Given the description of an element on the screen output the (x, y) to click on. 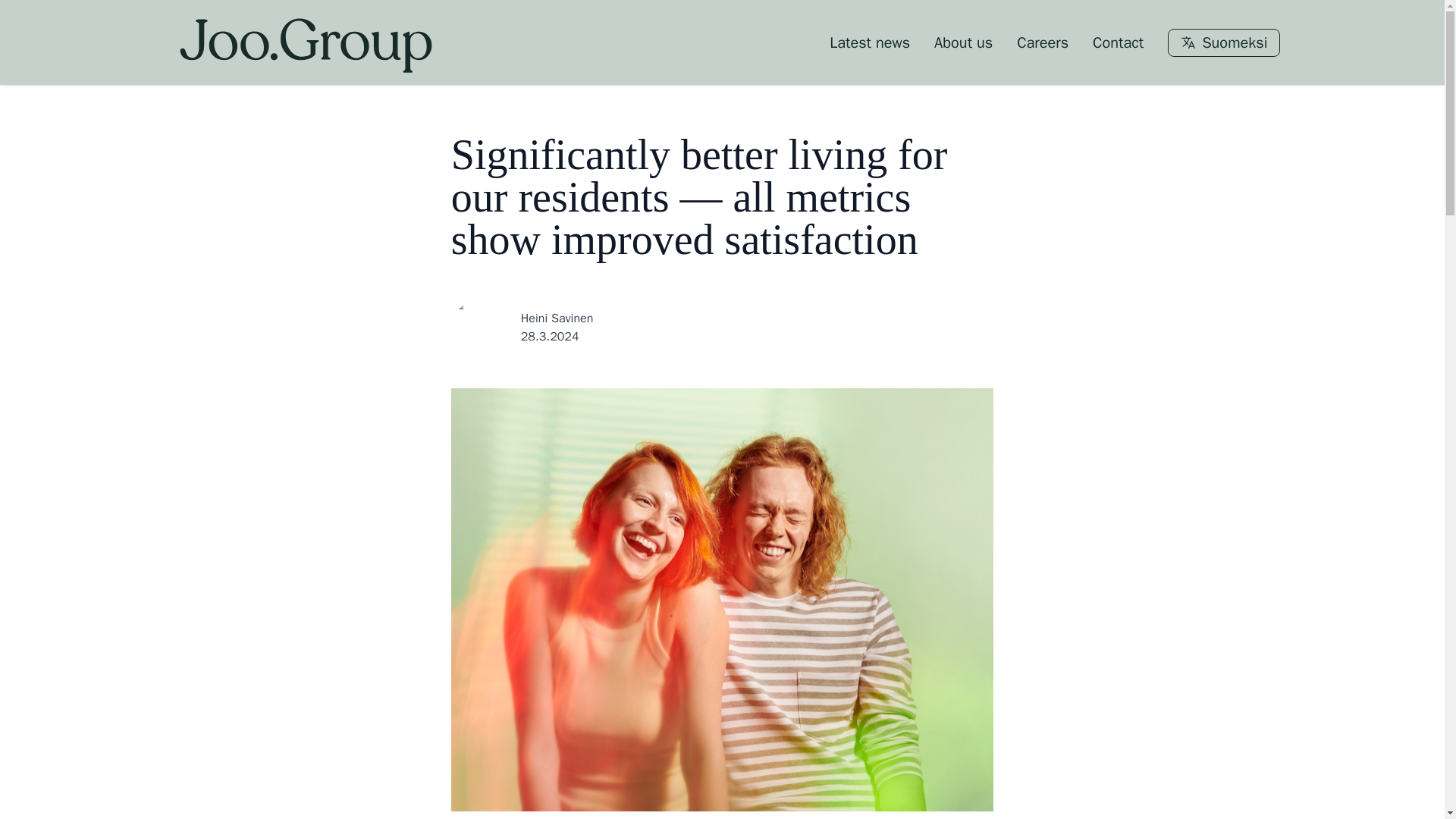
About us (963, 42)
Suomeksi (1223, 42)
Contact (1117, 42)
Careers (1042, 42)
Latest news (869, 42)
